Given the description of an element on the screen output the (x, y) to click on. 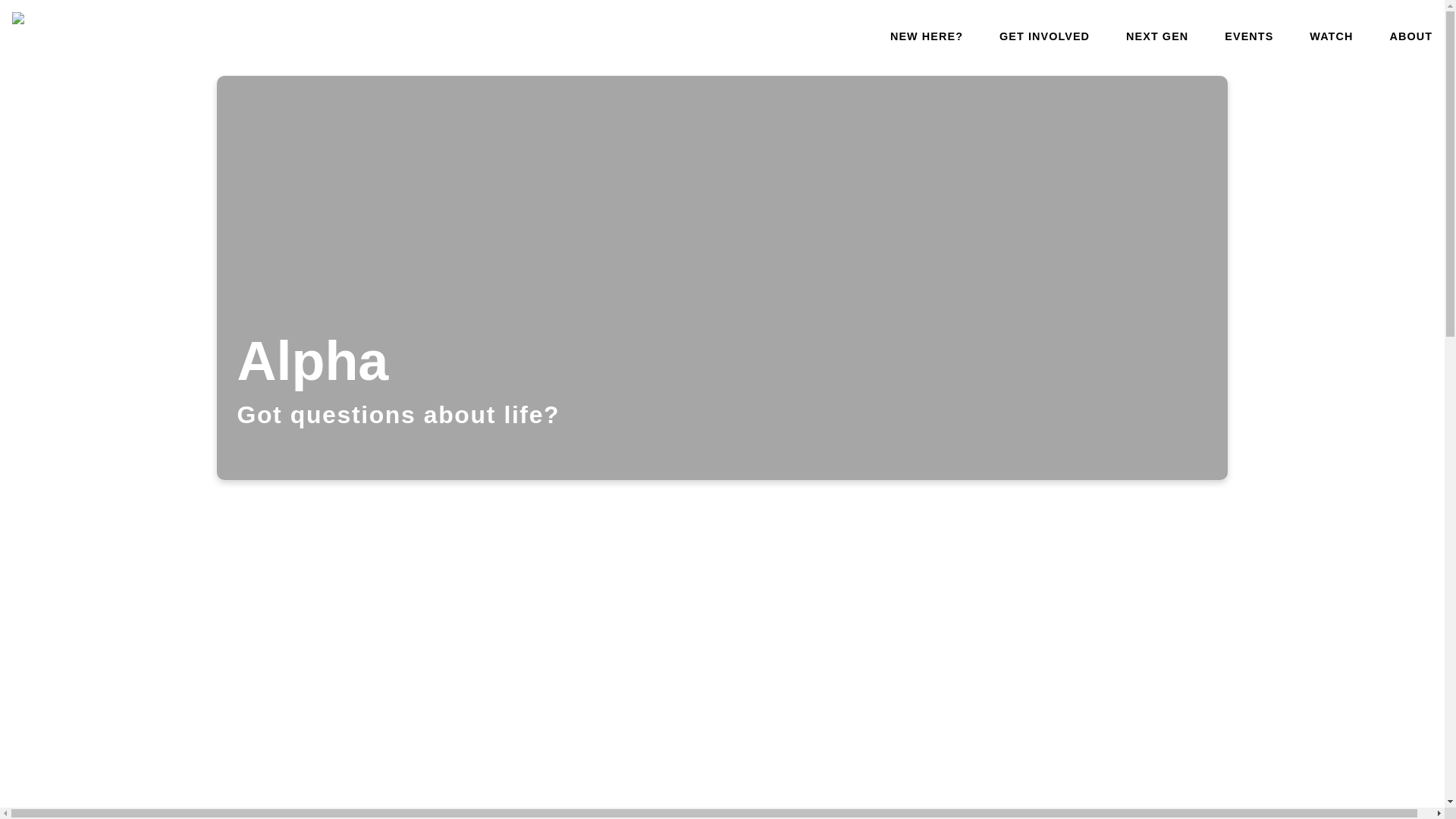
NEXT GEN (1156, 36)
WATCH (1330, 36)
GET INVOLVED (1043, 36)
ABOUT (1410, 36)
NEW HERE? (925, 36)
EVENTS (1248, 36)
